Given the description of an element on the screen output the (x, y) to click on. 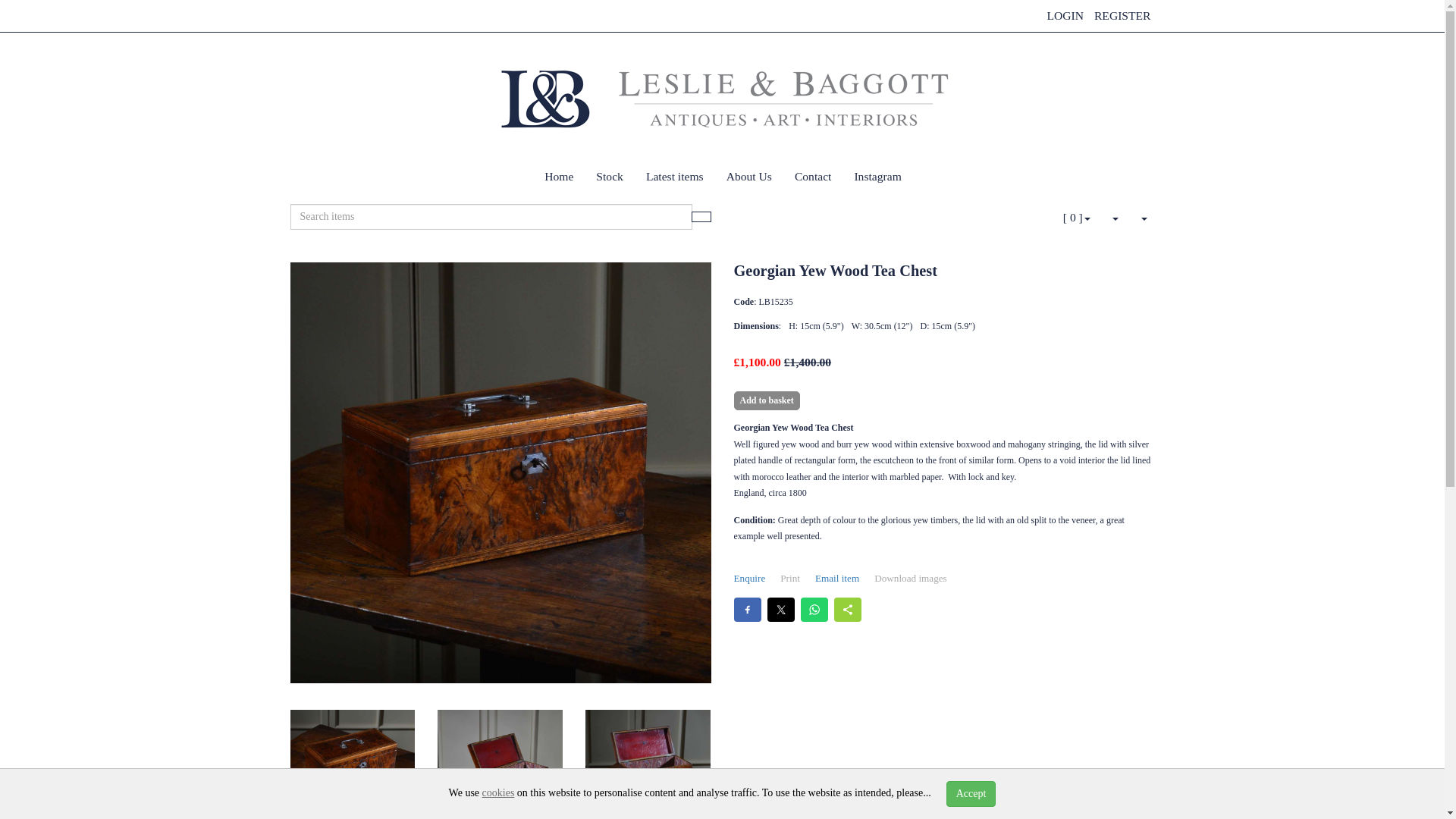
Instagram (877, 176)
Enquire (749, 578)
Home (558, 176)
REGISTER (1122, 14)
Add to basket (766, 400)
LOGIN (1065, 14)
Latest items (674, 176)
Contact (813, 176)
